Given the description of an element on the screen output the (x, y) to click on. 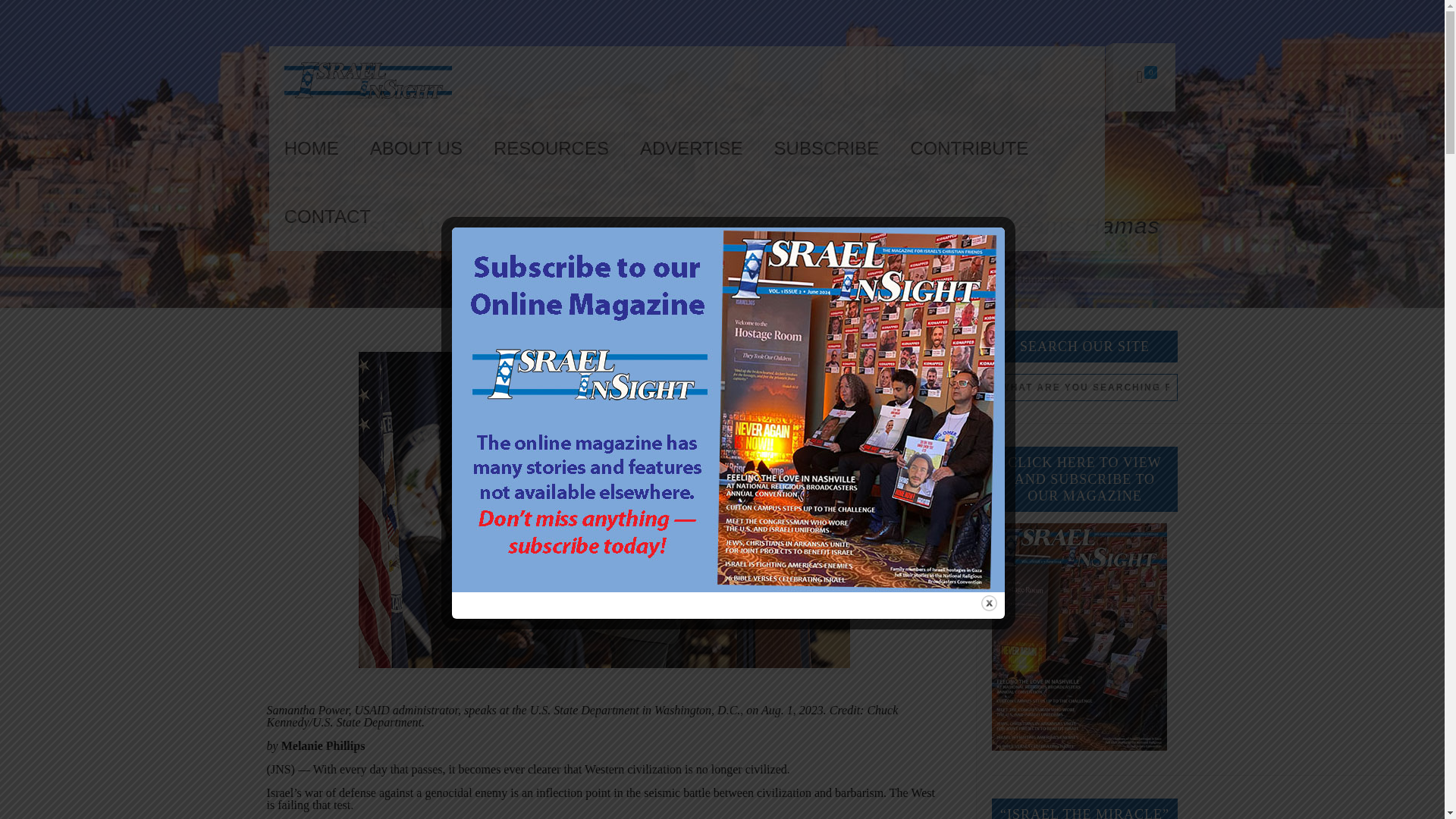
HOME (312, 148)
Close (989, 602)
Getting at the Truth (573, 278)
ADVERTISE (691, 148)
CONTACT (327, 216)
0 (1146, 77)
RESOURCES (551, 148)
ABOUT US (417, 148)
Home (390, 278)
The News (465, 278)
Israel InSight (367, 79)
CONTRIBUTE (969, 148)
SUBSCRIBE (826, 148)
